Given the description of an element on the screen output the (x, y) to click on. 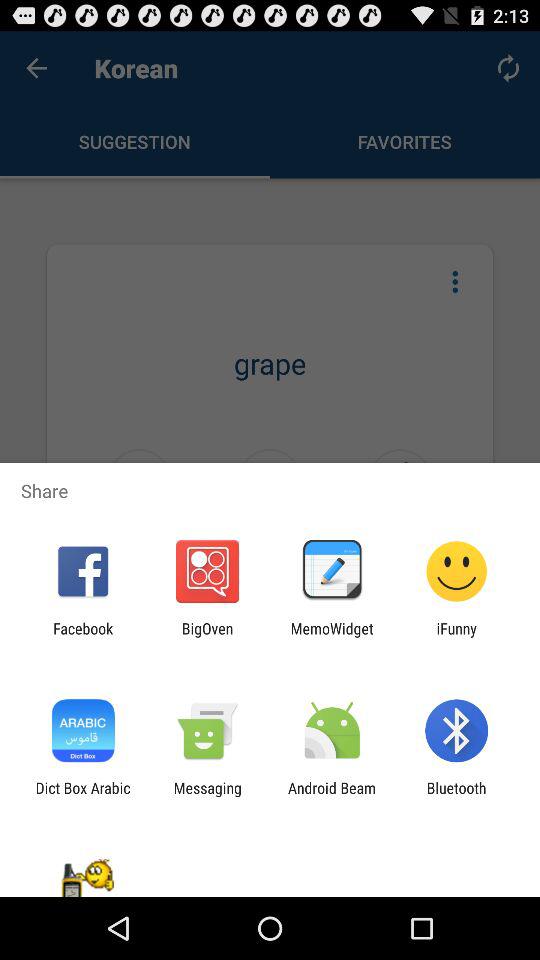
press the icon to the right of the dict box arabic app (207, 796)
